Given the description of an element on the screen output the (x, y) to click on. 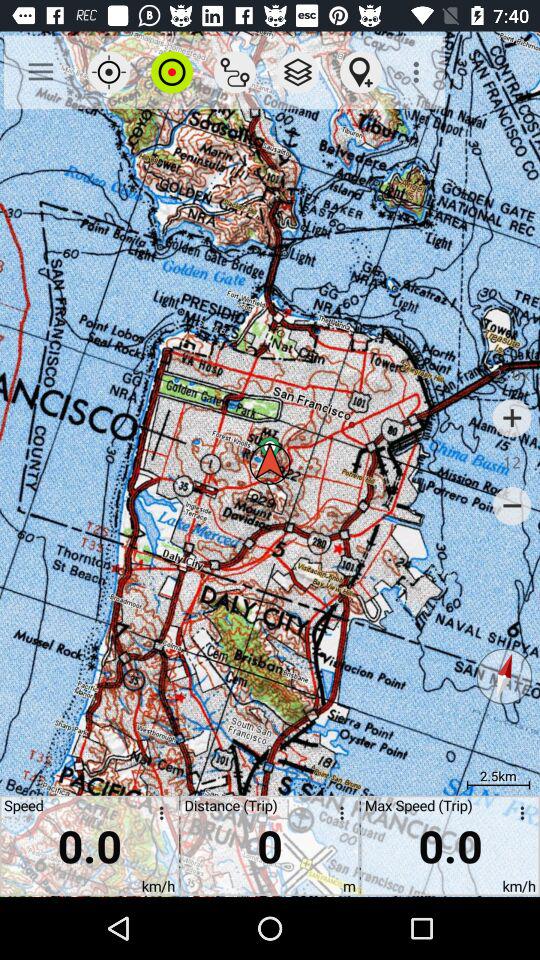
press app above the max speed (trip) app (418, 71)
